Given the description of an element on the screen output the (x, y) to click on. 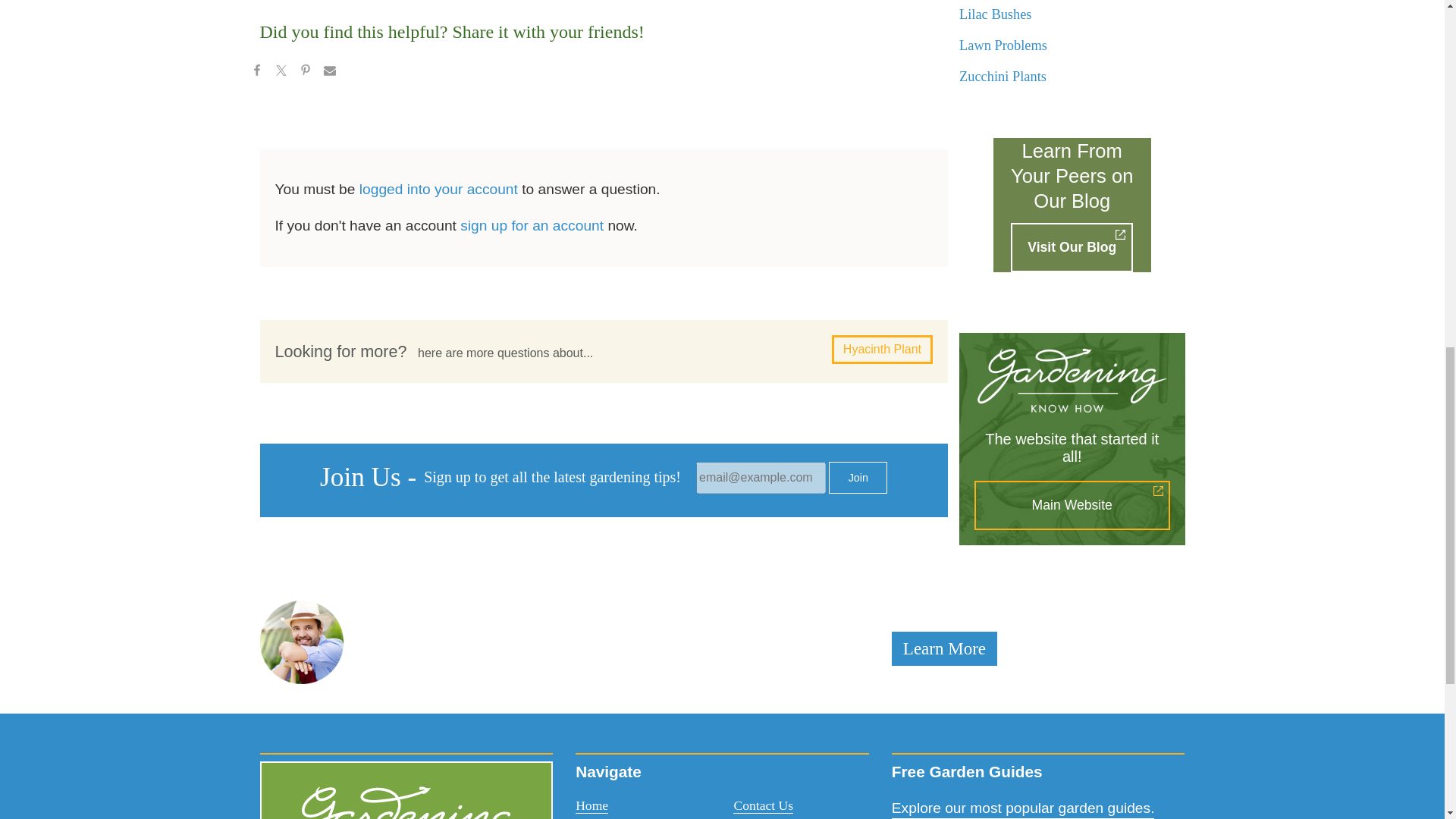
sign up for an account (516, 1)
Join (744, 106)
Hyacinth Plant (295, 54)
